Given the description of an element on the screen output the (x, y) to click on. 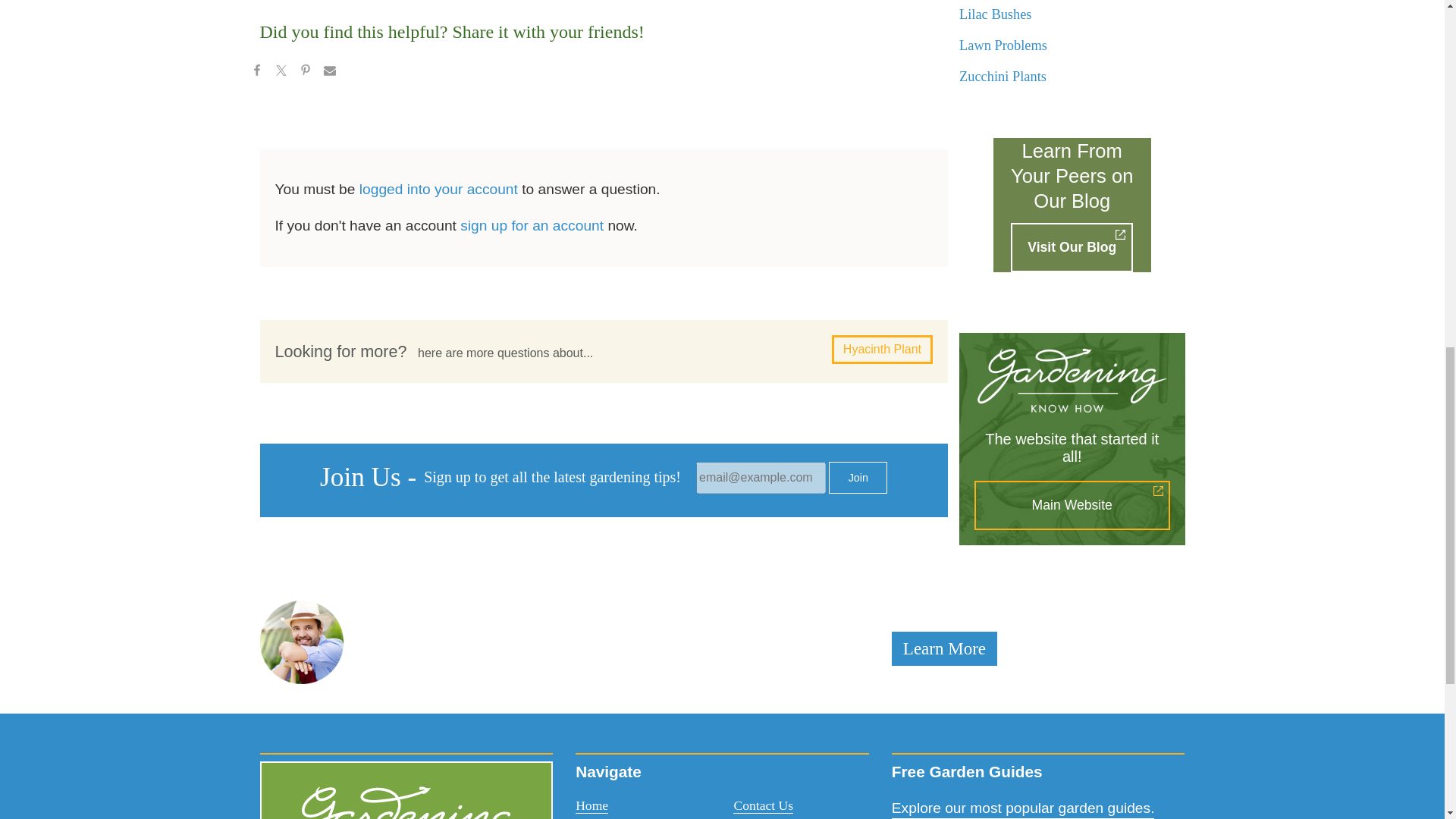
sign up for an account (516, 1)
Join (744, 106)
Hyacinth Plant (295, 54)
